Given the description of an element on the screen output the (x, y) to click on. 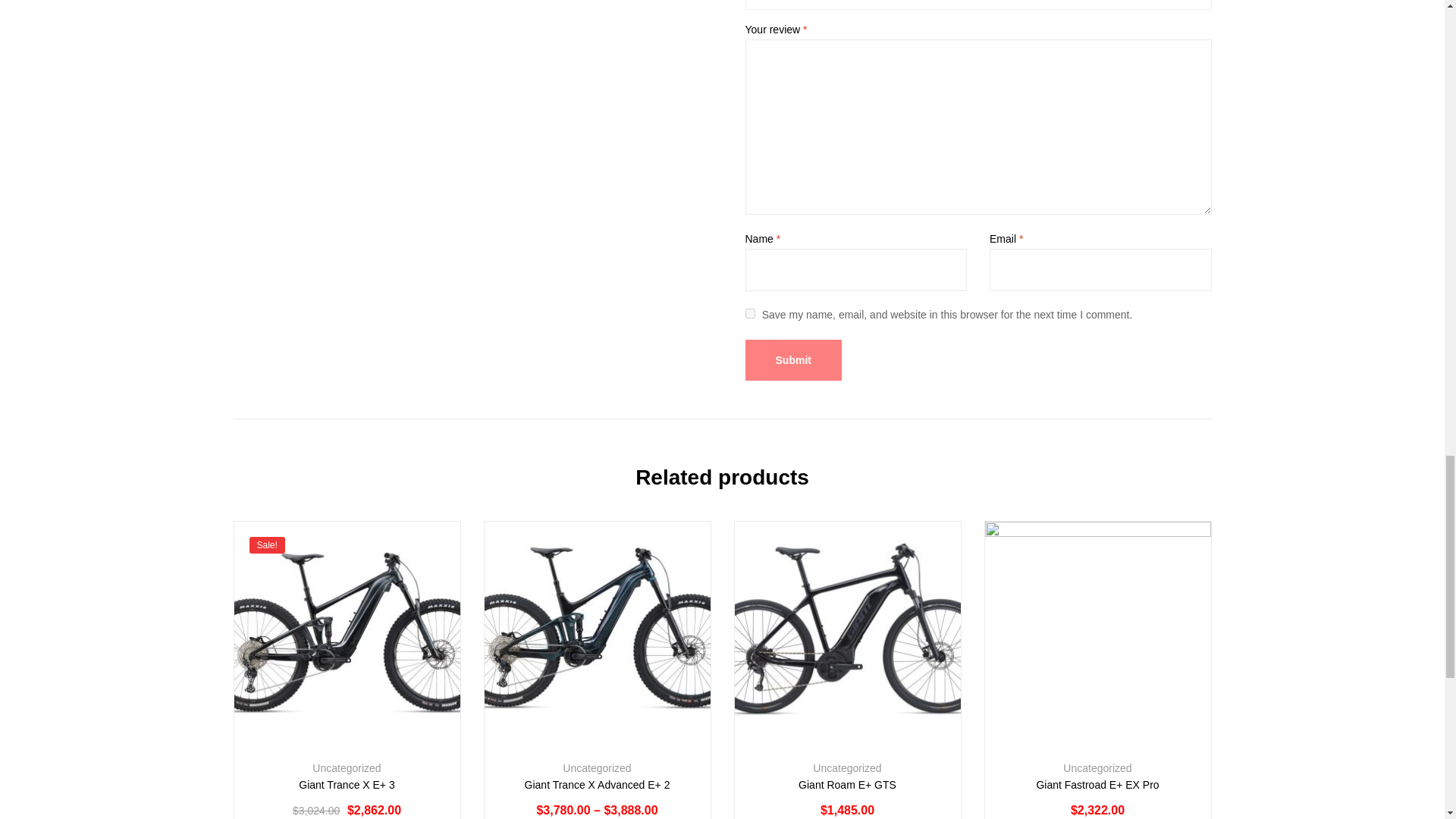
Submit (792, 359)
yes (749, 313)
